Given the description of an element on the screen output the (x, y) to click on. 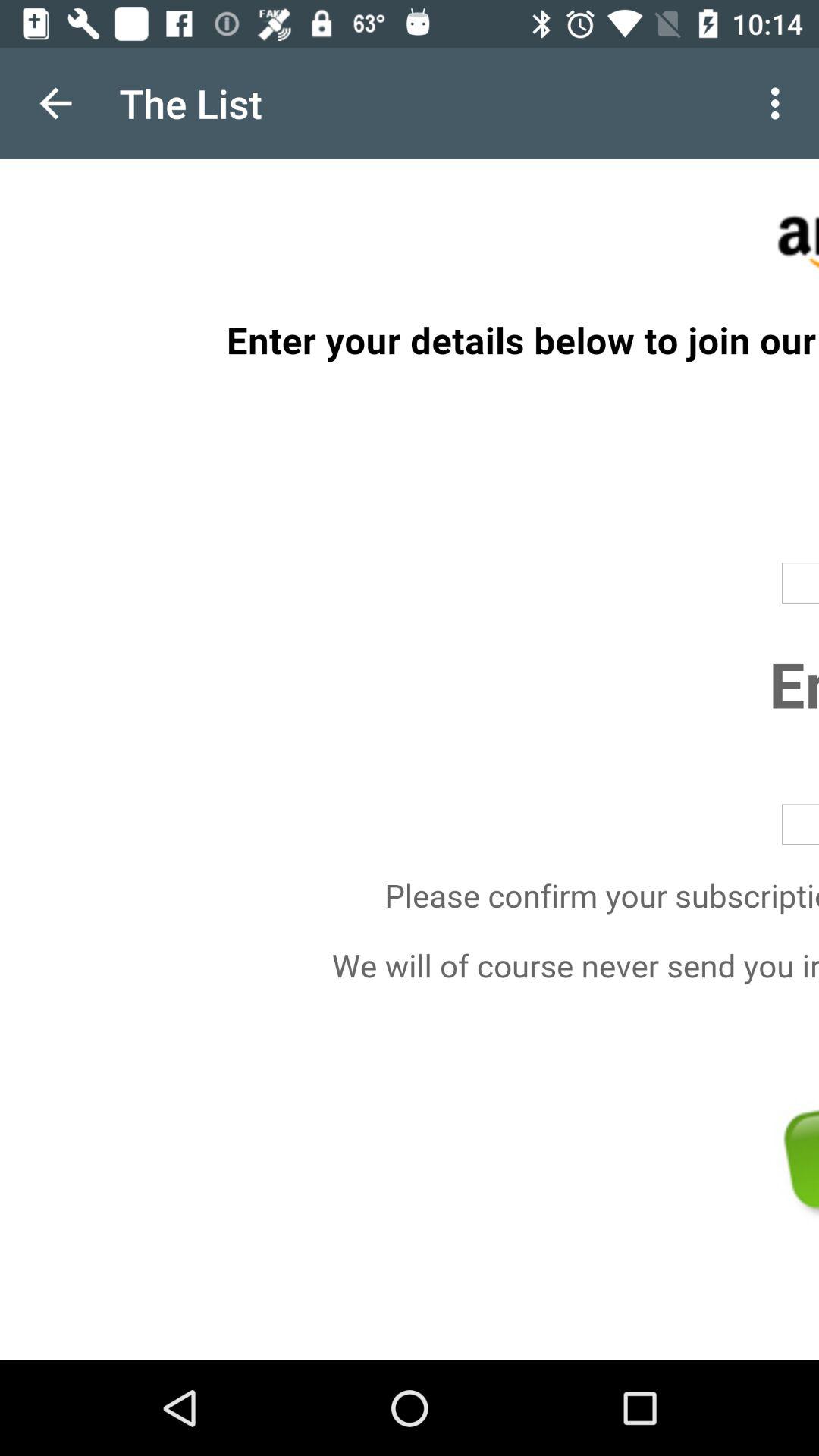
click item next to the the list (779, 103)
